Given the description of an element on the screen output the (x, y) to click on. 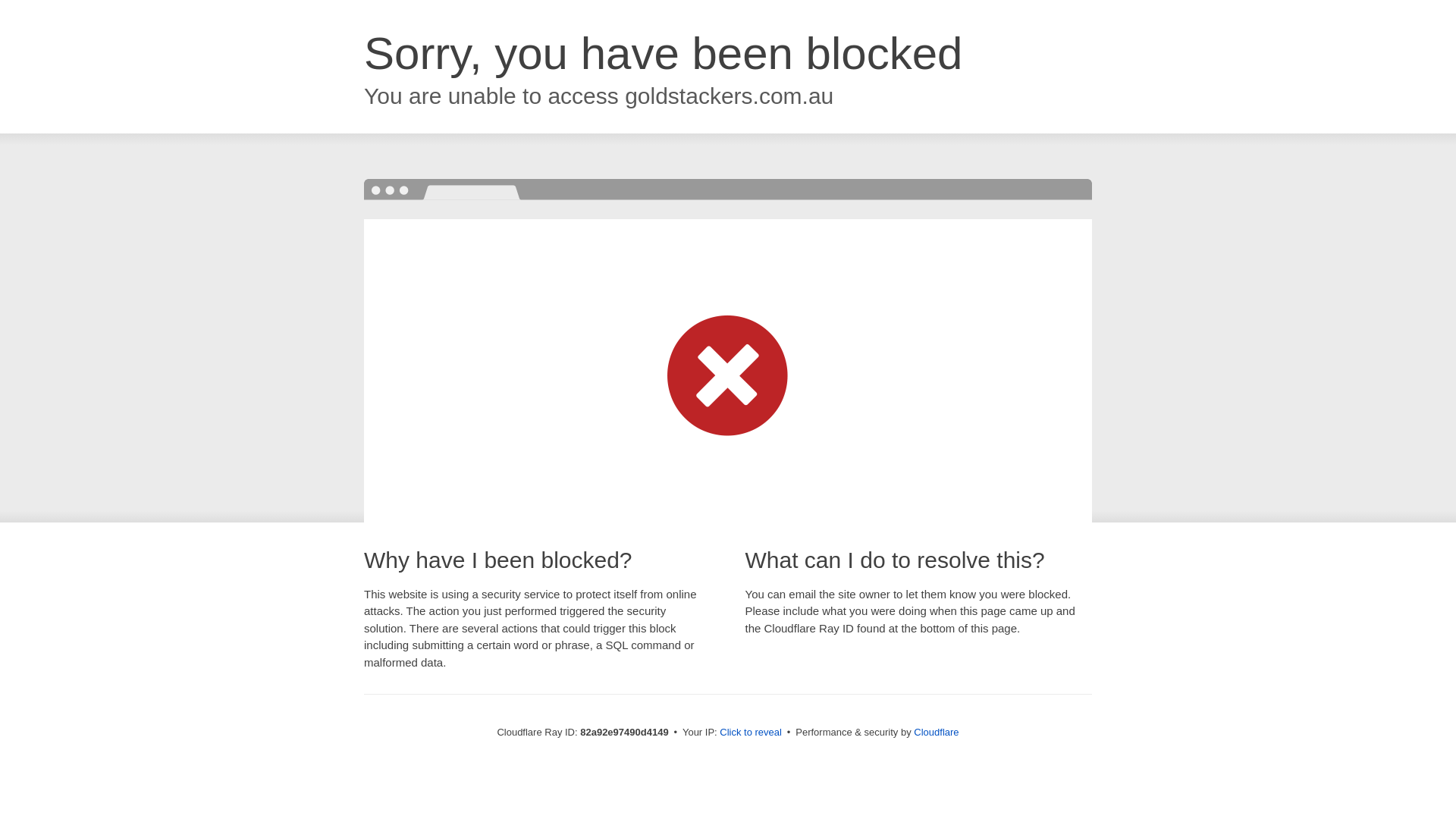
Click to reveal Element type: text (750, 732)
Cloudflare Element type: text (935, 731)
